Given the description of an element on the screen output the (x, y) to click on. 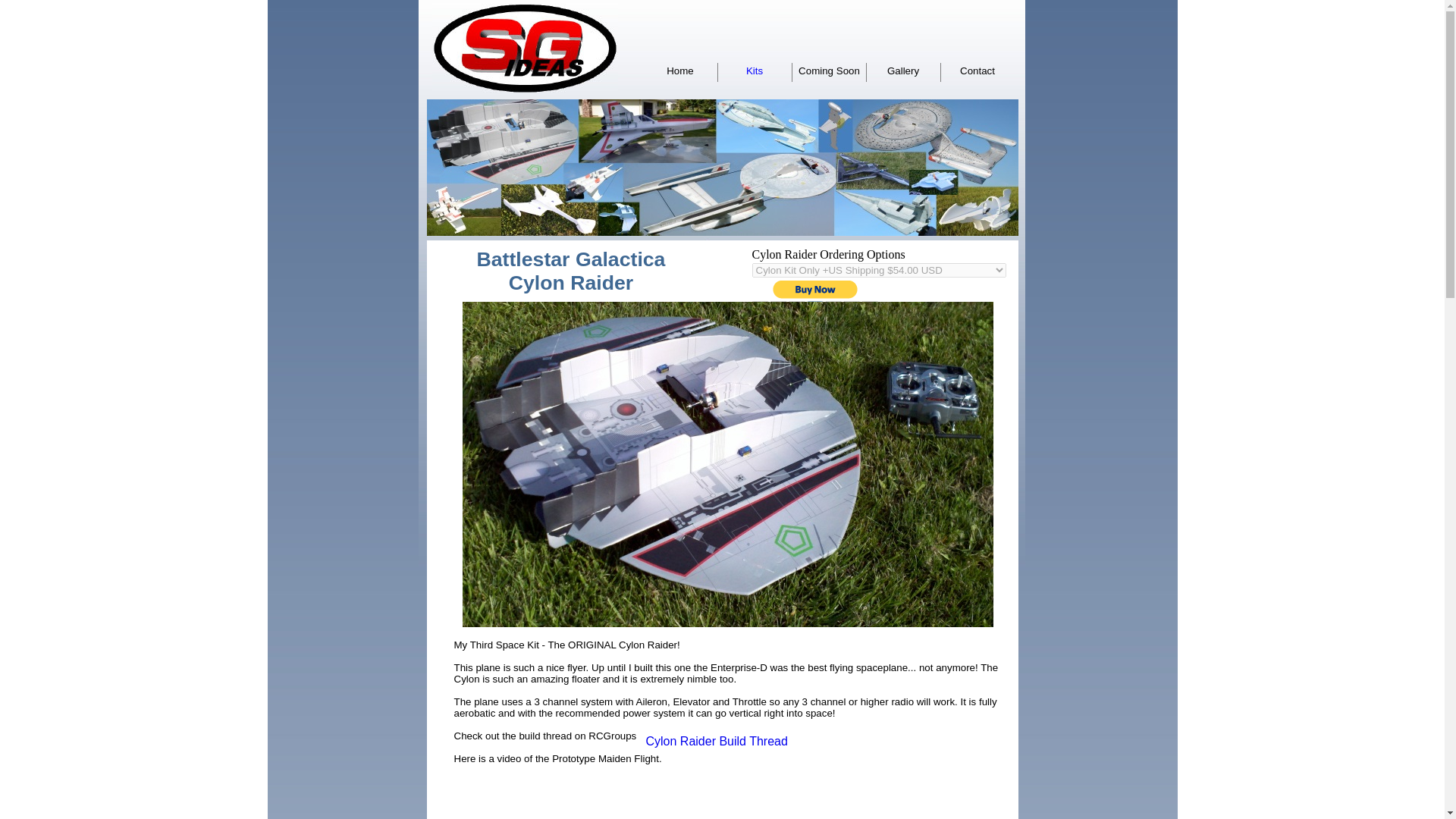
Cylon Raider Build Thread (716, 740)
Kits (753, 70)
Gallery (902, 70)
Home (680, 70)
Contact (976, 70)
Coming Soon (828, 70)
